Given the description of an element on the screen output the (x, y) to click on. 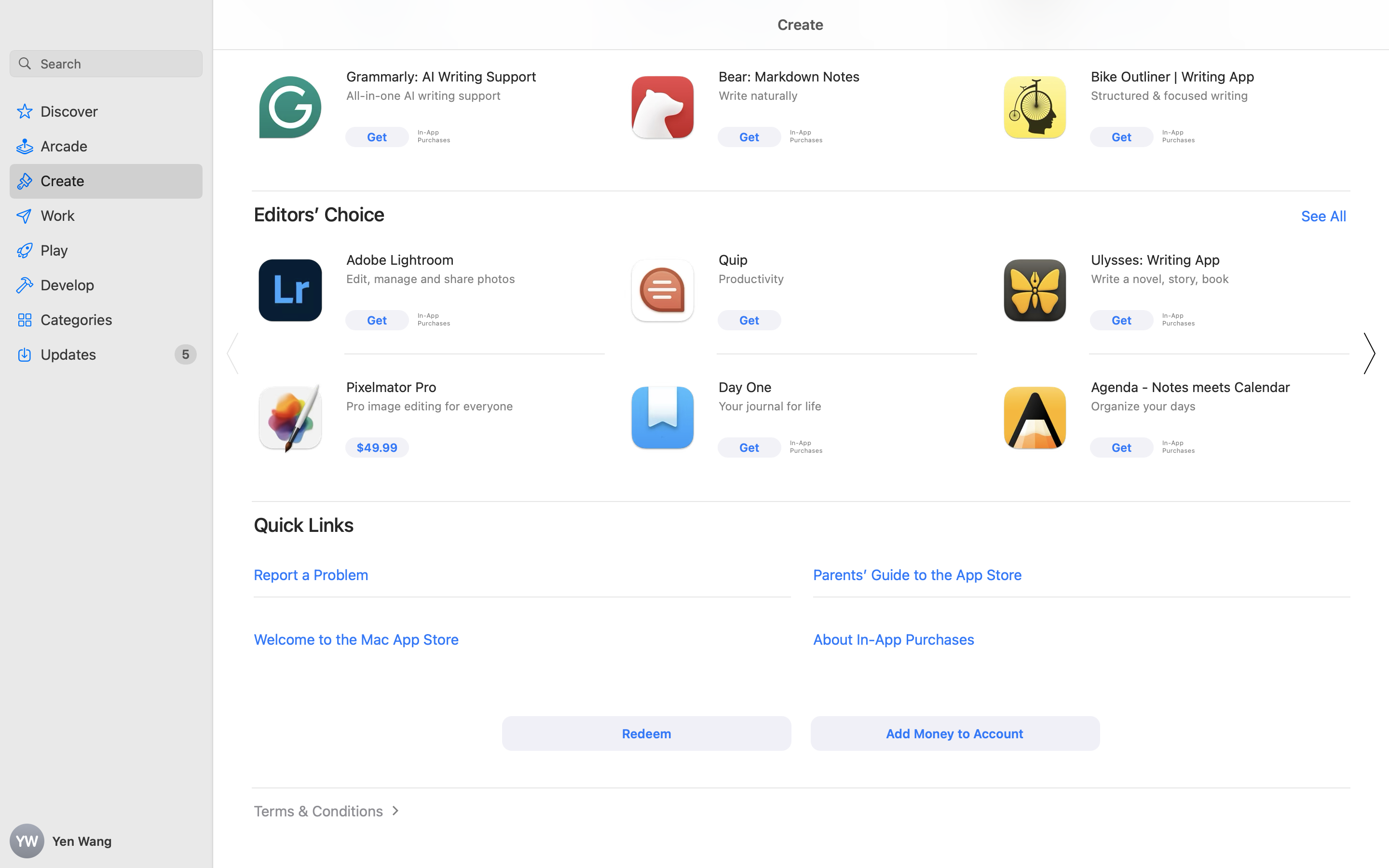
Yen Wang Element type: AXButton (106, 840)
Editors’ Choice Element type: AXStaticText (318, 213)
